Given the description of an element on the screen output the (x, y) to click on. 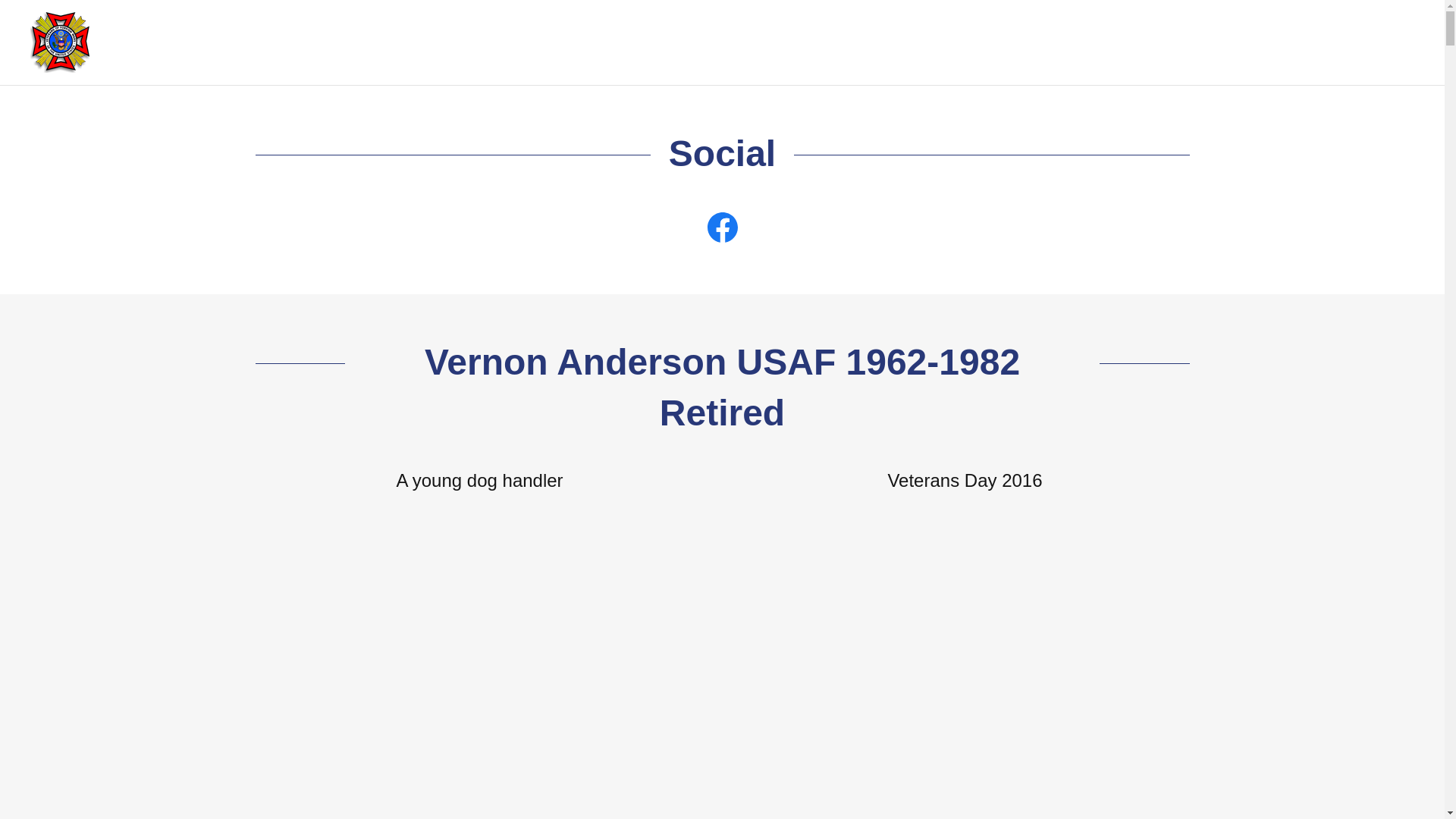
Veterans of Foreign Wars VFW Post 880 (59, 41)
